Given the description of an element on the screen output the (x, y) to click on. 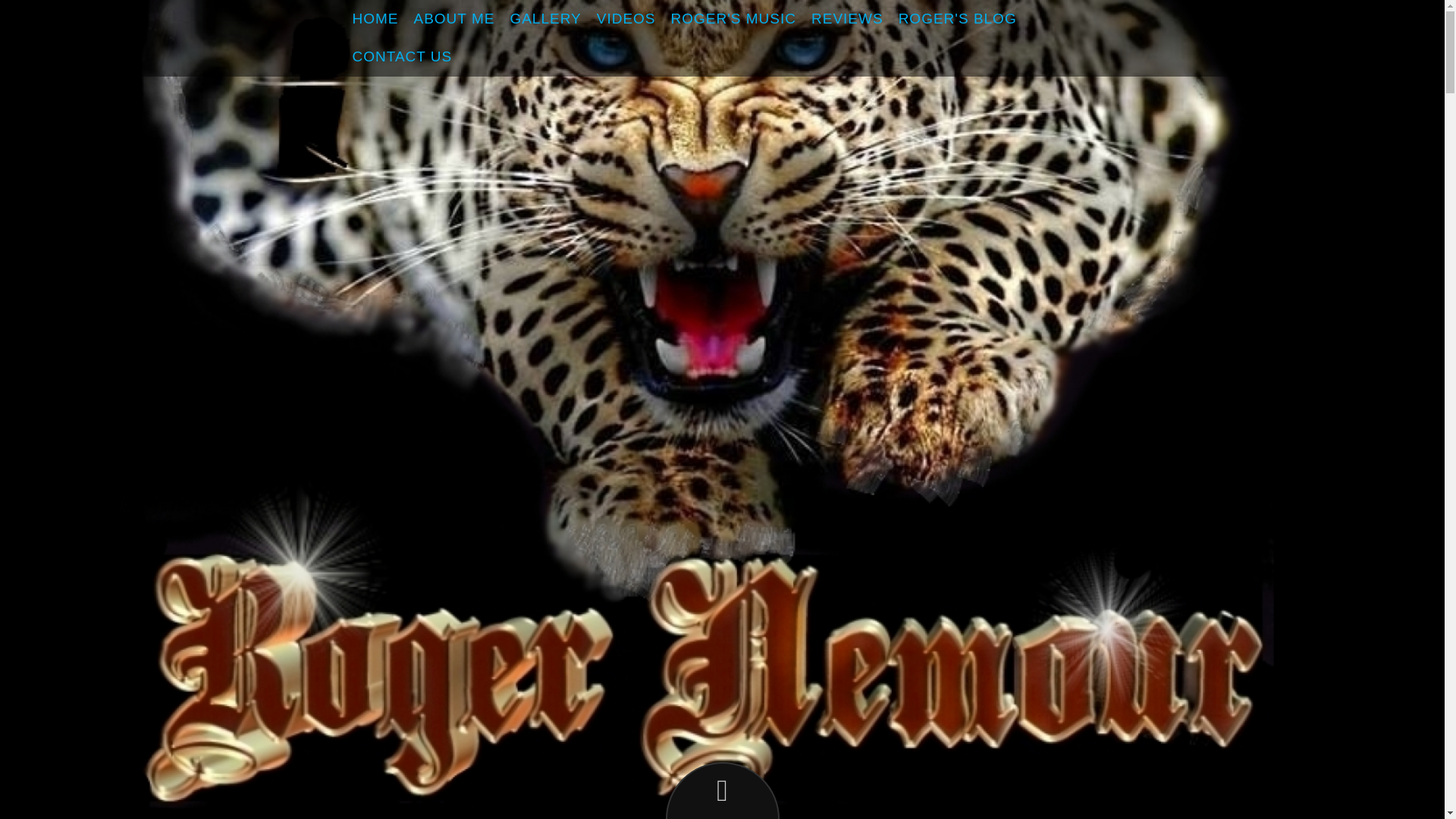
ROGER'S MUSIC (733, 18)
ABOUT ME (454, 18)
REVIEWS (847, 18)
HOME (374, 18)
ROGER'S BLOG (958, 18)
GALLERY (545, 18)
VIDEOS (626, 18)
CONTACT US (401, 56)
